Given the description of an element on the screen output the (x, y) to click on. 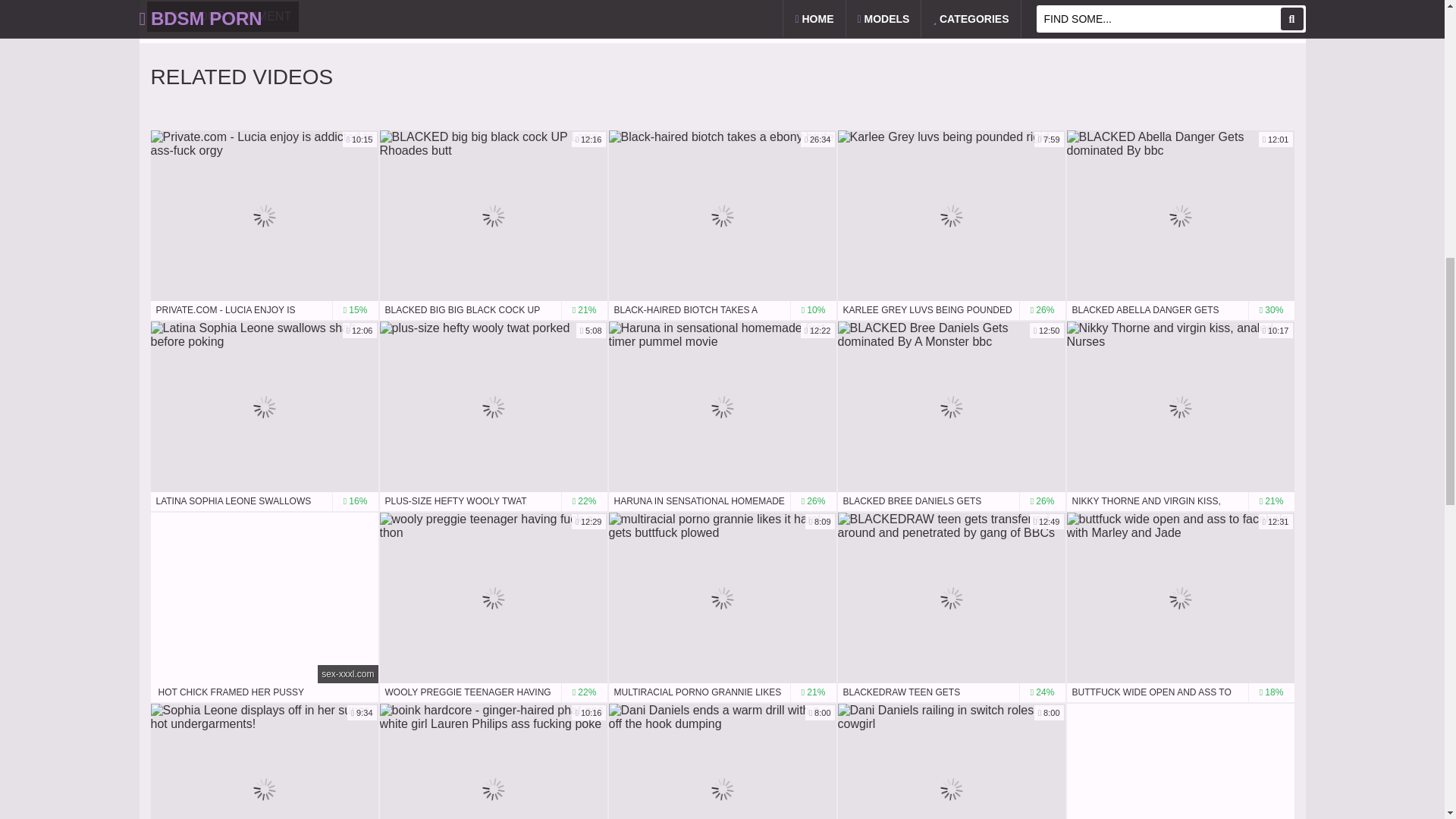
KARLEE GREY LUVS BEING POUNDED RIGID (950, 310)
7:59 (950, 215)
NIKKY THORNE AND VIRGIN KISS, ANALED NURSES (1179, 501)
10:17 (1179, 406)
BLACKED BIG BIG BLACK COCK UP LANA RHOADES BUTT (492, 310)
PLUS-SIZE HEFTY WOOLY TWAT PORKED (492, 501)
12:22 (721, 406)
8:09 (721, 597)
PRIVATE.COM - LUCIA ENJOY IS ADDICTED TO ASS-FUCK ORGY (263, 310)
10:15 (263, 215)
